Given the description of an element on the screen output the (x, y) to click on. 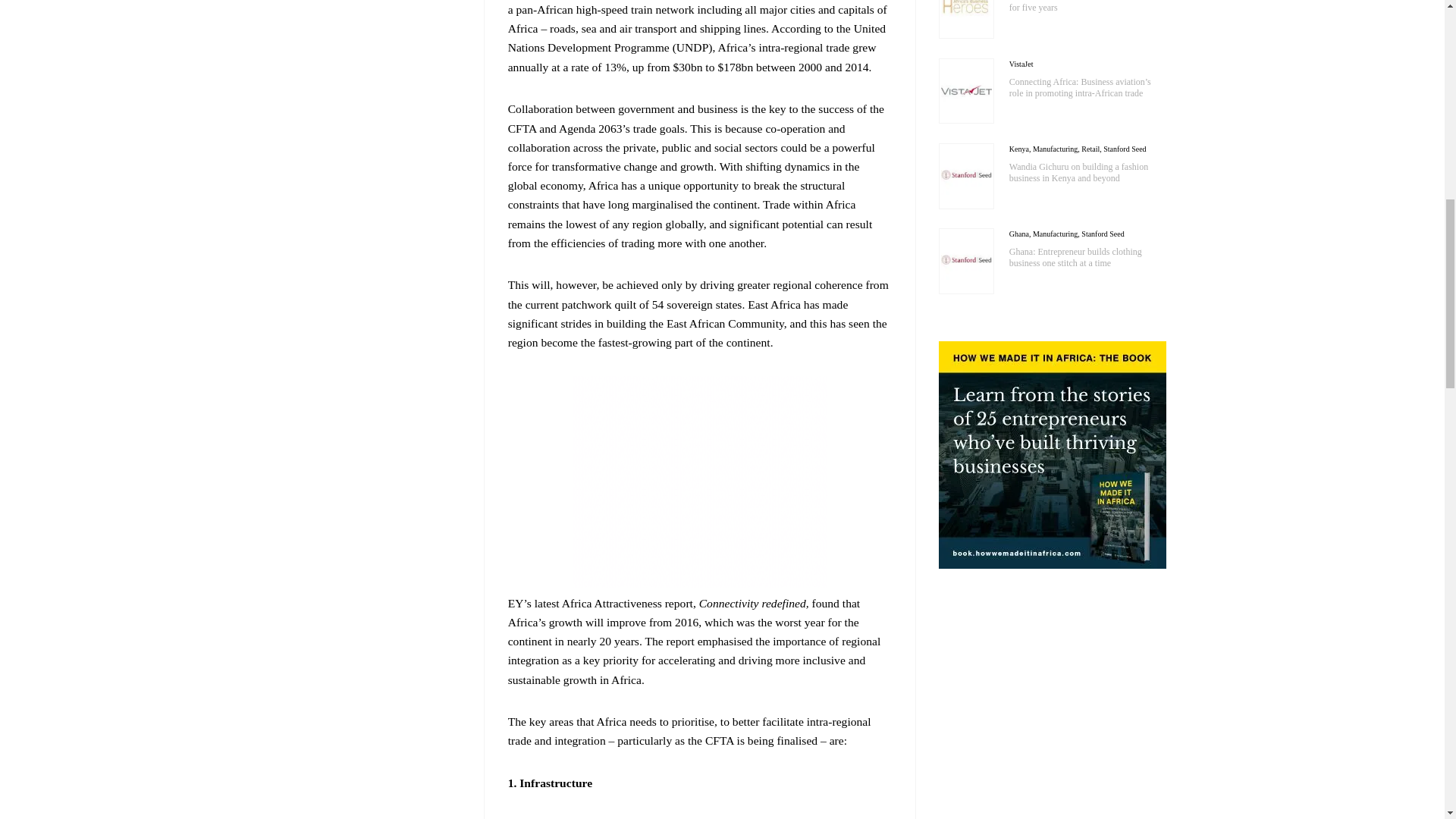
3rd party ad content (699, 481)
